Given the description of an element on the screen output the (x, y) to click on. 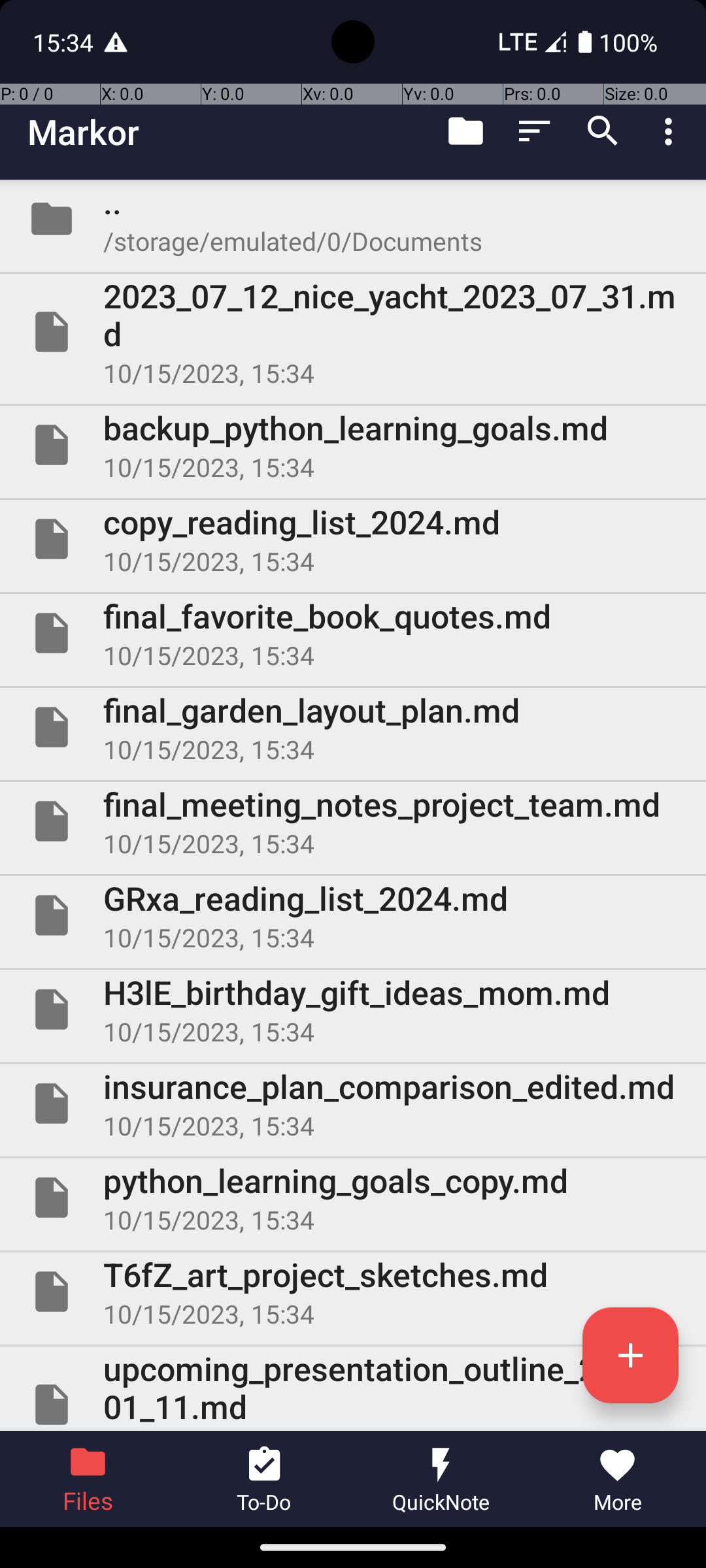
File 2023_07_12_nice_yacht_2023_07_31.md  Element type: android.widget.LinearLayout (353, 331)
File backup_python_learning_goals.md  Element type: android.widget.LinearLayout (353, 444)
File copy_reading_list_2024.md  Element type: android.widget.LinearLayout (353, 538)
File final_favorite_book_quotes.md  Element type: android.widget.LinearLayout (353, 632)
File final_garden_layout_plan.md  Element type: android.widget.LinearLayout (353, 726)
File final_meeting_notes_project_team.md  Element type: android.widget.LinearLayout (353, 821)
File GRxa_reading_list_2024.md  Element type: android.widget.LinearLayout (353, 915)
File H3lE_birthday_gift_ideas_mom.md  Element type: android.widget.LinearLayout (353, 1009)
File insurance_plan_comparison_edited.md  Element type: android.widget.LinearLayout (353, 1103)
File python_learning_goals_copy.md  Element type: android.widget.LinearLayout (353, 1197)
File T6fZ_art_project_sketches.md  Element type: android.widget.LinearLayout (353, 1291)
File upcoming_presentation_outline_2023_01_11.md  Element type: android.widget.LinearLayout (353, 1388)
